Given the description of an element on the screen output the (x, y) to click on. 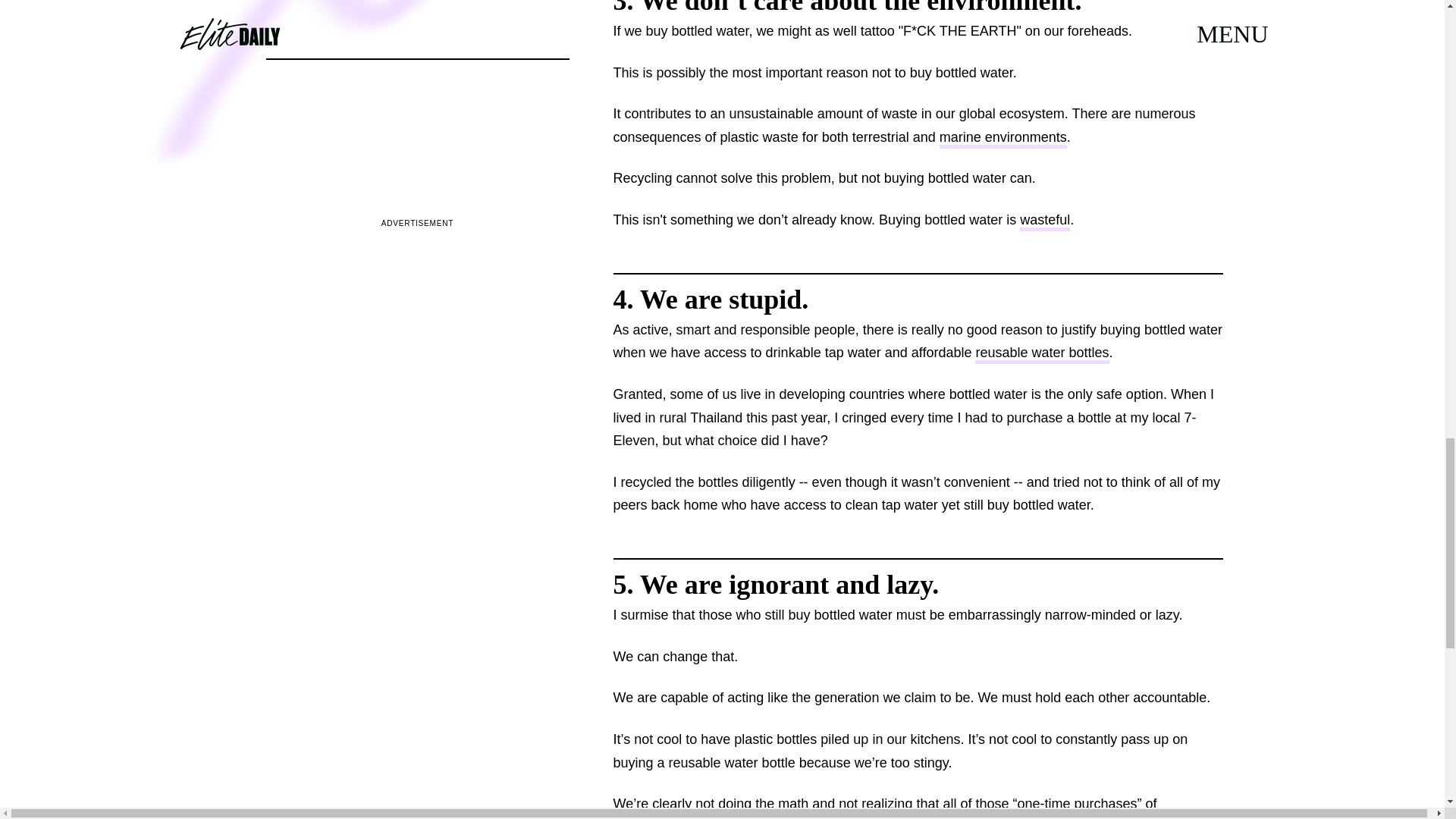
reusable water bottles (1041, 353)
wasteful (1045, 221)
marine environments (1003, 138)
